Given the description of an element on the screen output the (x, y) to click on. 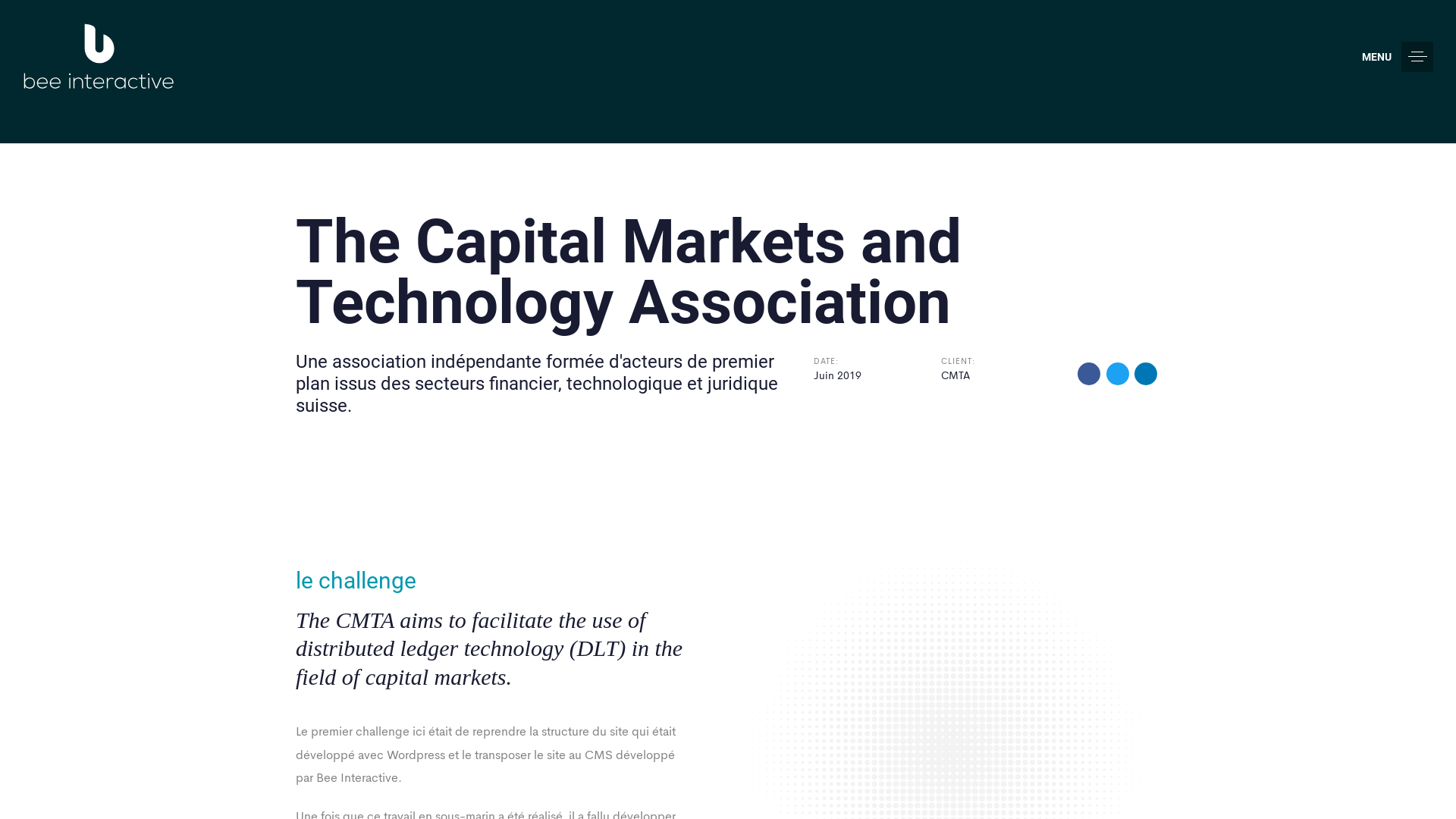
MENU Element type: text (1397, 56)
